Given the description of an element on the screen output the (x, y) to click on. 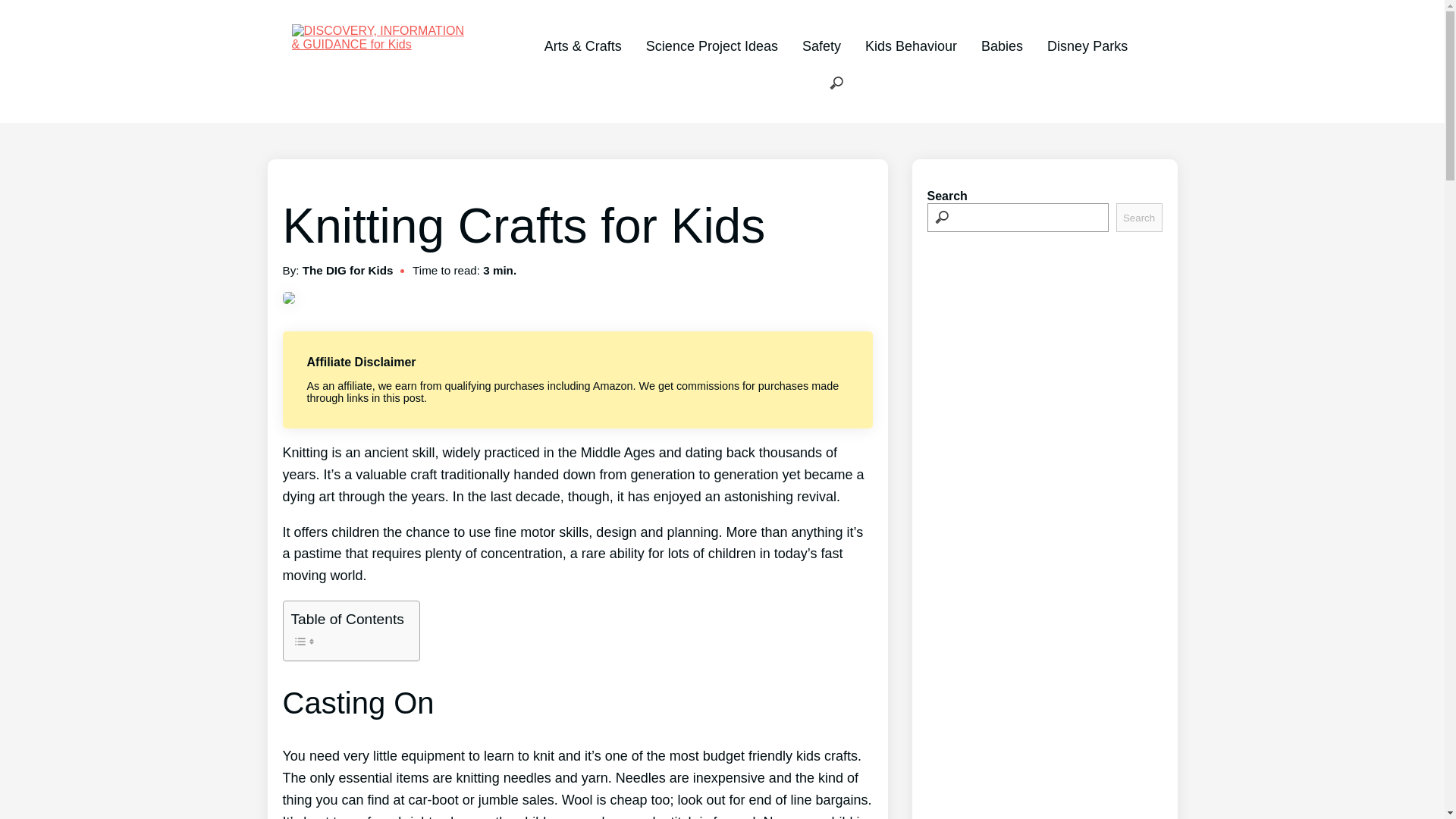
Babies (1002, 46)
Science Project Ideas (711, 46)
Safety (821, 46)
Search for: (835, 83)
Search (1138, 217)
Kids Behaviour (910, 46)
Disney Parks (1086, 46)
